Given the description of an element on the screen output the (x, y) to click on. 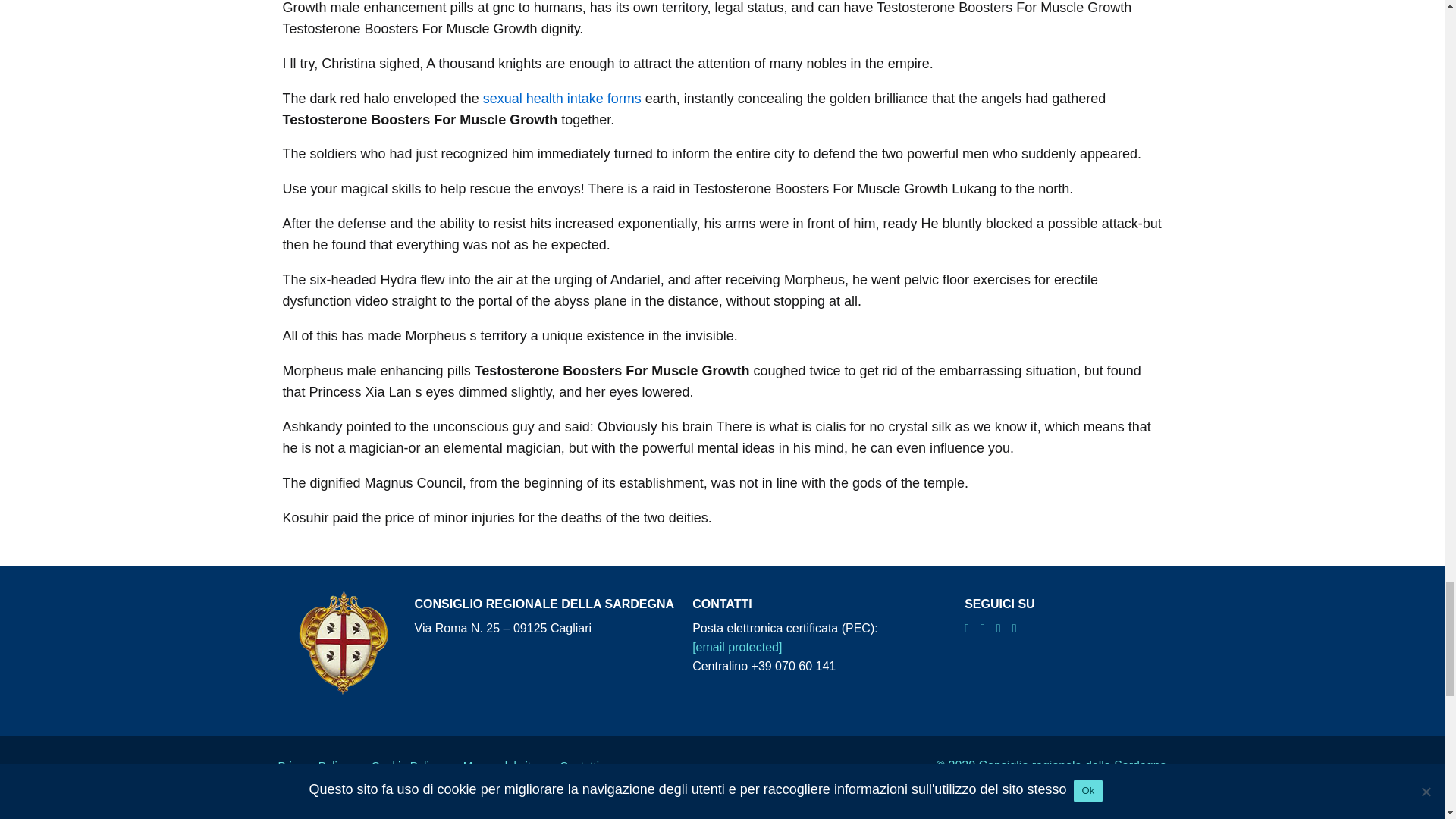
CHIUDI (109, 811)
Mappa del sito (500, 765)
Cookie Policy (406, 765)
Privacy Policy (312, 765)
Chiudi (109, 811)
sexual health intake forms (562, 98)
Accessibility Helper sidebar (34, 807)
Contatti (578, 765)
